Given the description of an element on the screen output the (x, y) to click on. 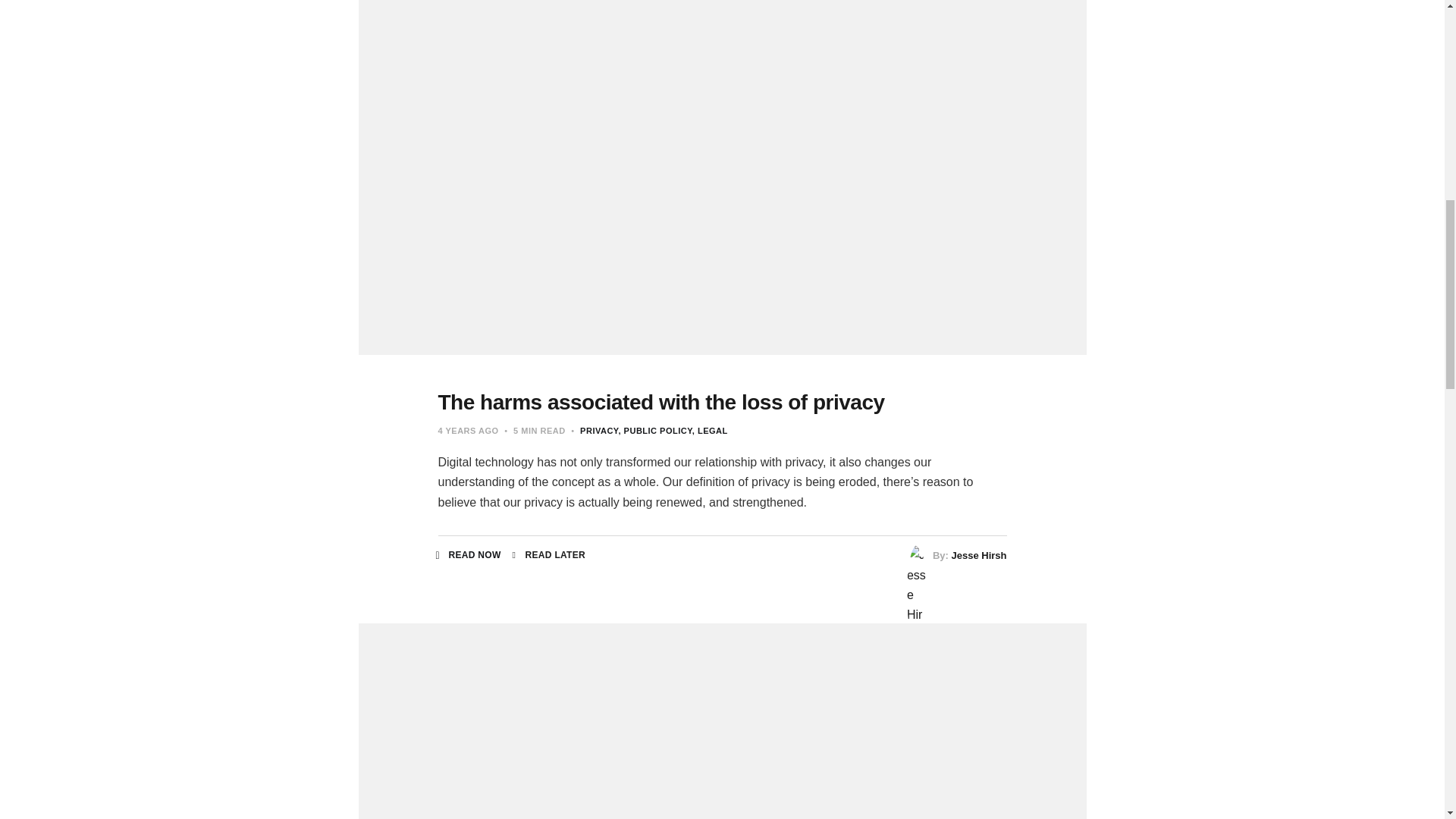
Jesse Hirsh (978, 555)
LEGAL (710, 429)
READ LATER (548, 554)
legal (710, 429)
Privacy (598, 429)
READ NOW (469, 554)
PUBLIC POLICY (654, 429)
Public Policy (654, 429)
PRIVACY (598, 429)
The harms associated with the loss of privacy (661, 401)
